Given the description of an element on the screen output the (x, y) to click on. 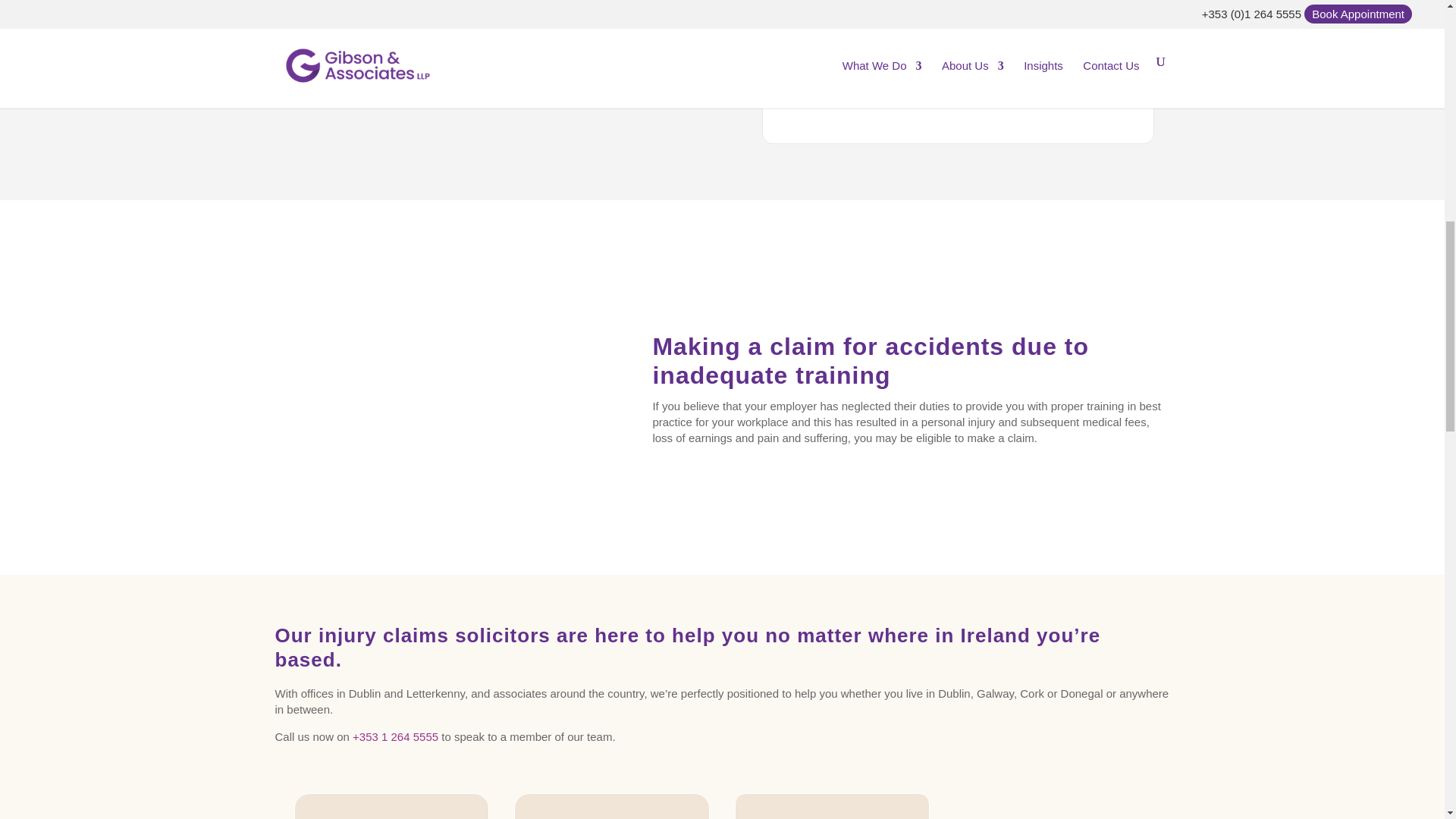
A-Guide-to-Becoming-a-Consultant-Solicitor (438, 388)
